Given the description of an element on the screen output the (x, y) to click on. 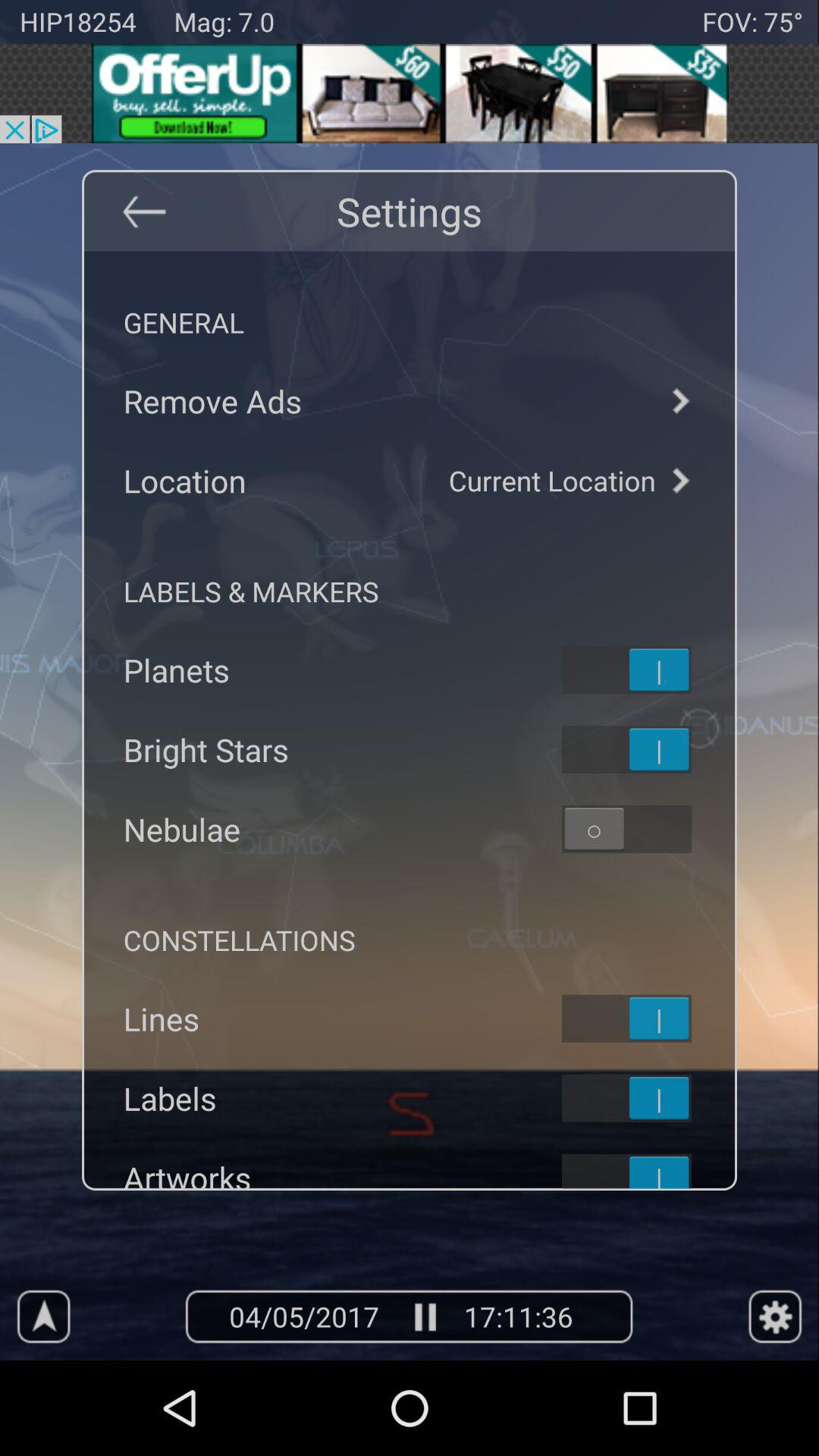
toggle planets label (646, 669)
